Given the description of an element on the screen output the (x, y) to click on. 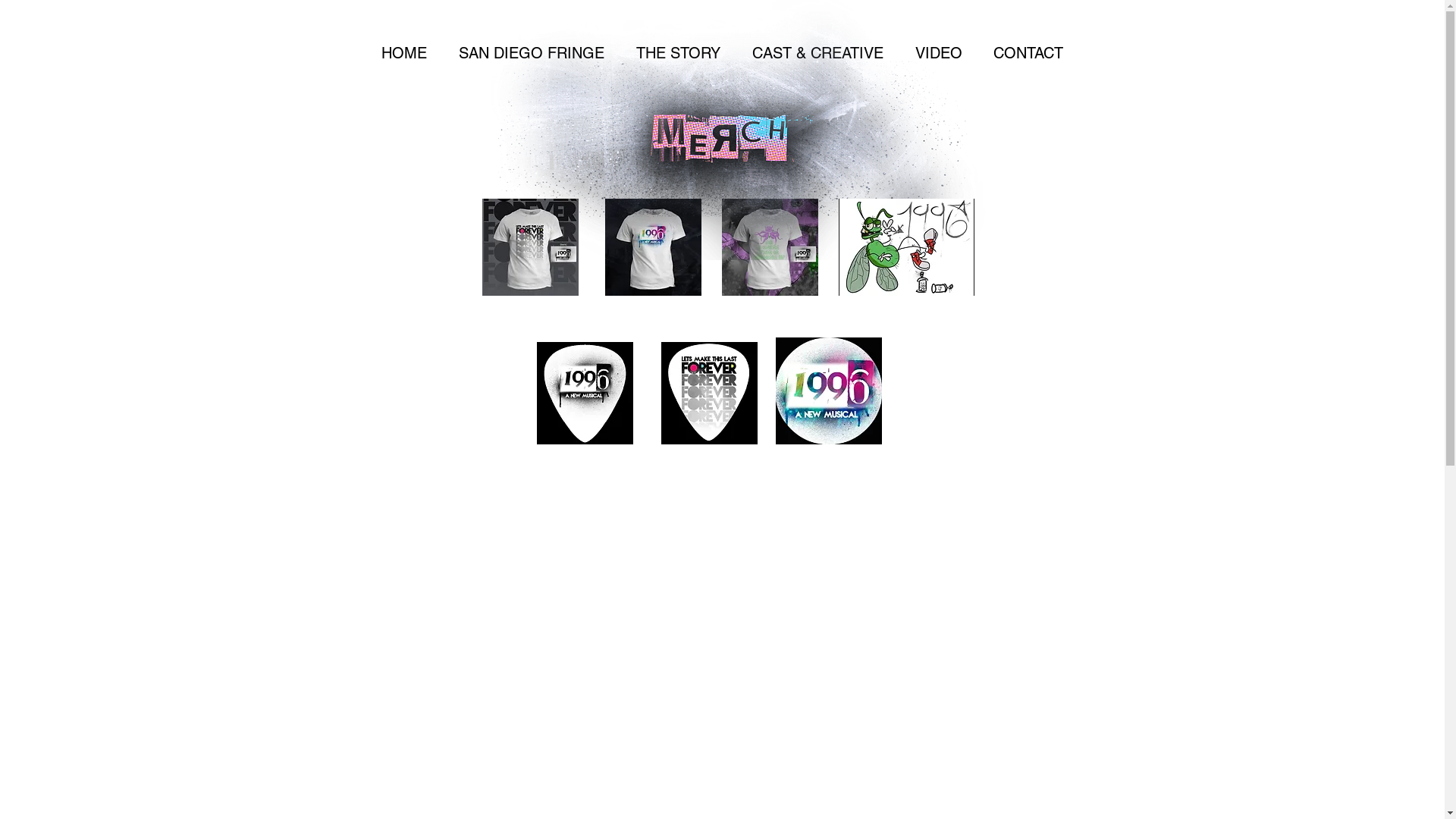
CONTACT Element type: text (1028, 53)
THE STORY Element type: text (678, 53)
HOME Element type: text (403, 53)
VIDEO Element type: text (938, 53)
SAN DIEGO FRINGE Element type: text (531, 53)
CAST & CREATIVE Element type: text (816, 53)
